Given the description of an element on the screen output the (x, y) to click on. 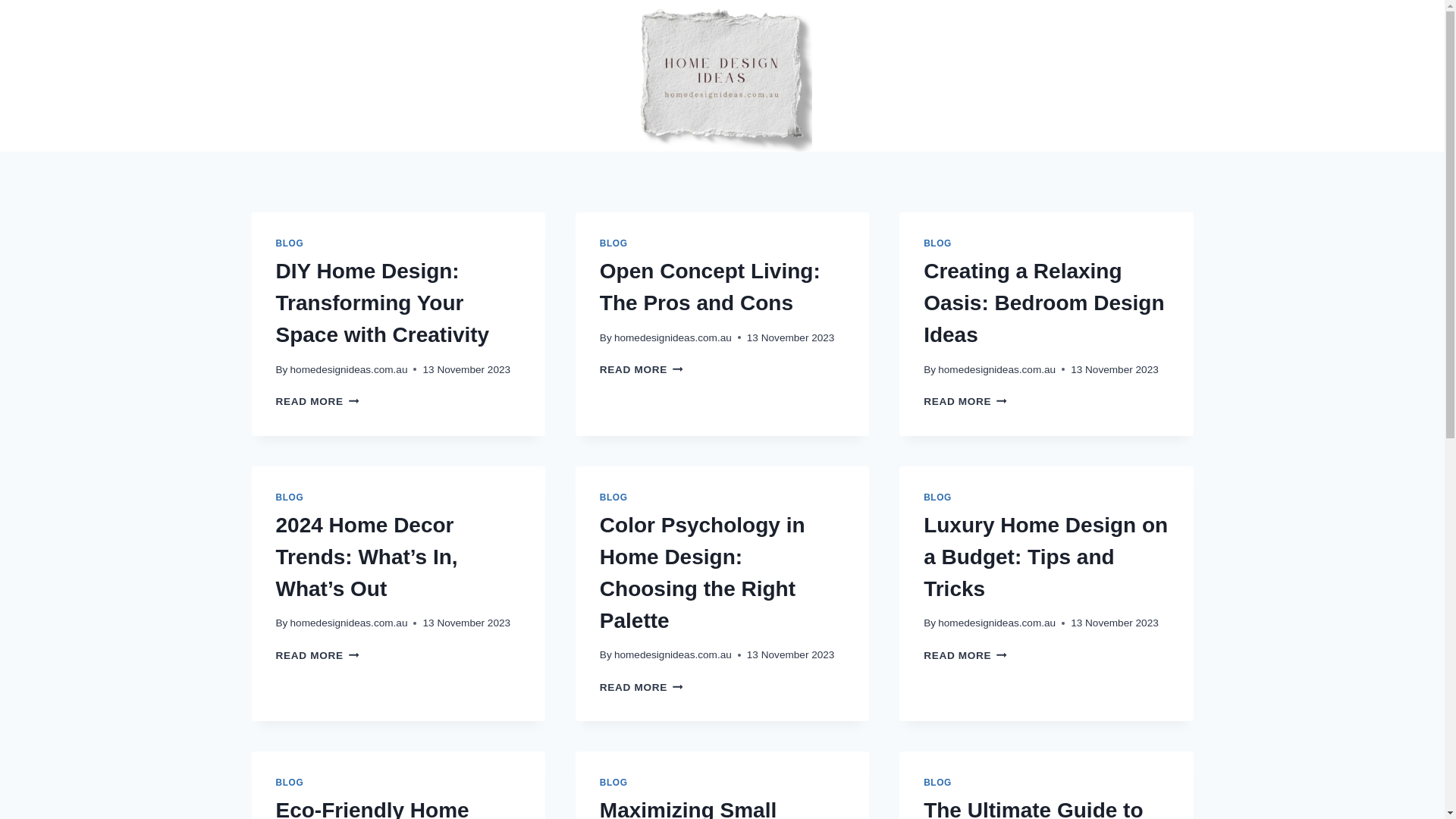
BLOG Element type: text (613, 782)
homedesignideas.com.au Element type: text (996, 622)
BLOG Element type: text (290, 497)
READ MORE
OPEN CONCEPT LIVING: THE PROS AND CONS Element type: text (641, 369)
homedesignideas.com.au Element type: text (672, 654)
BLOG Element type: text (937, 497)
homedesignideas.com.au Element type: text (996, 369)
BLOG Element type: text (937, 243)
homedesignideas.com.au Element type: text (348, 369)
READ MORE
CREATING A RELAXING OASIS: BEDROOM DESIGN IDEAS Element type: text (965, 401)
Luxury Home Design on a Budget: Tips and Tricks Element type: text (1045, 555)
READ MORE
LUXURY HOME DESIGN ON A BUDGET: TIPS AND TRICKS Element type: text (965, 655)
Color Psychology in Home Design: Choosing the Right Palette Element type: text (702, 571)
BLOG Element type: text (937, 782)
BLOG Element type: text (290, 782)
DIY Home Design: Transforming Your Space with Creativity Element type: text (382, 302)
BLOG Element type: text (290, 243)
Creating a Relaxing Oasis: Bedroom Design Ideas Element type: text (1043, 302)
homedesignideas.com.au Element type: text (672, 337)
BLOG Element type: text (613, 243)
BLOG Element type: text (613, 497)
Open Concept Living: The Pros and Cons Element type: text (709, 286)
homedesignideas.com.au Element type: text (348, 622)
